Given the description of an element on the screen output the (x, y) to click on. 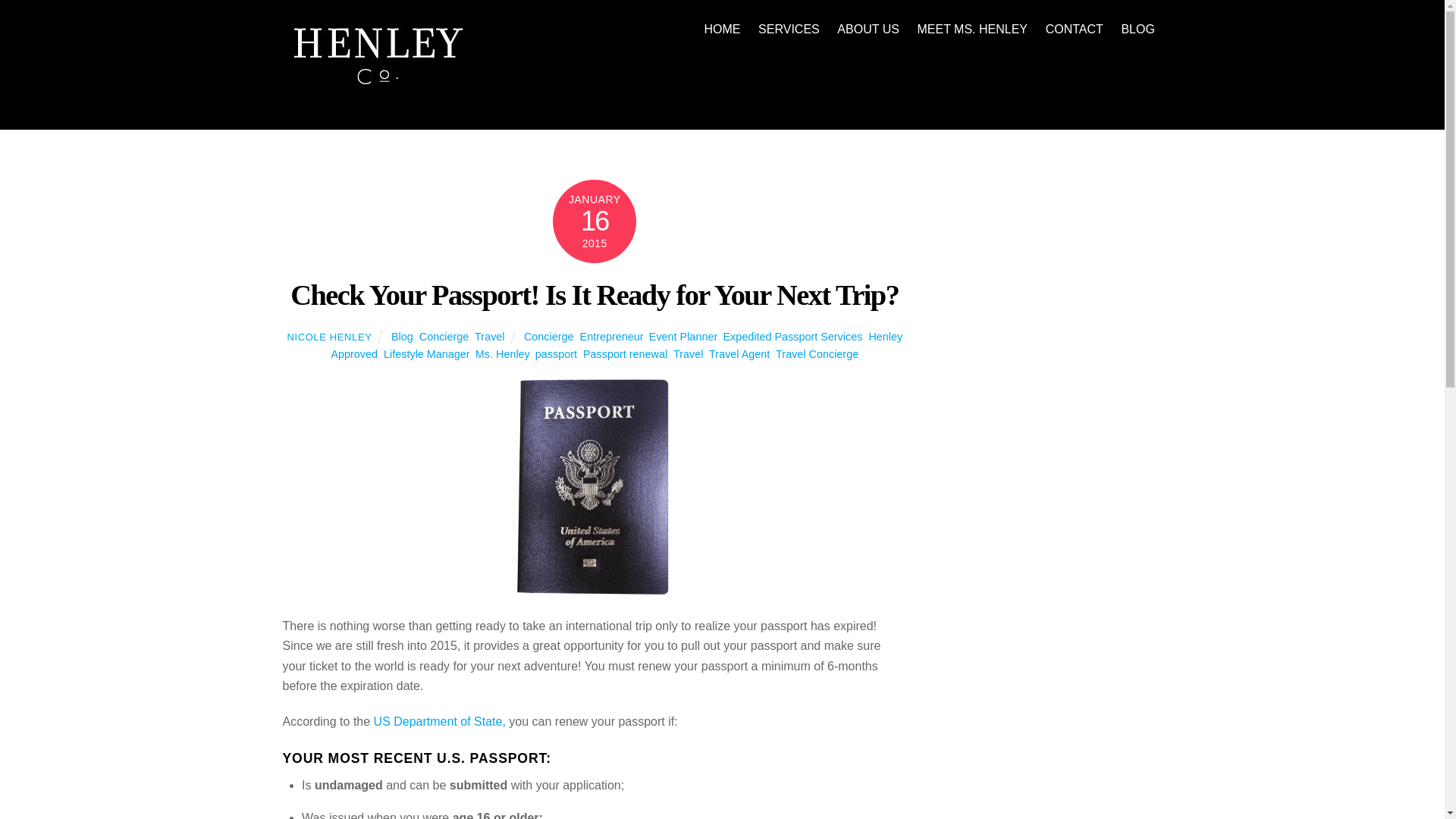
Ms. Henley (502, 354)
CONTACT (721, 29)
Blog (1073, 29)
Travel Agent (402, 336)
Event Planner (739, 354)
Travel Concierge (683, 336)
Entrepreneur (817, 354)
NICOLE HENLEY (611, 336)
Henley Approved (328, 336)
Travel (616, 345)
Lifestyle Manager (488, 336)
passport (426, 354)
Concierge (555, 354)
US Department of State, (548, 336)
